Given the description of an element on the screen output the (x, y) to click on. 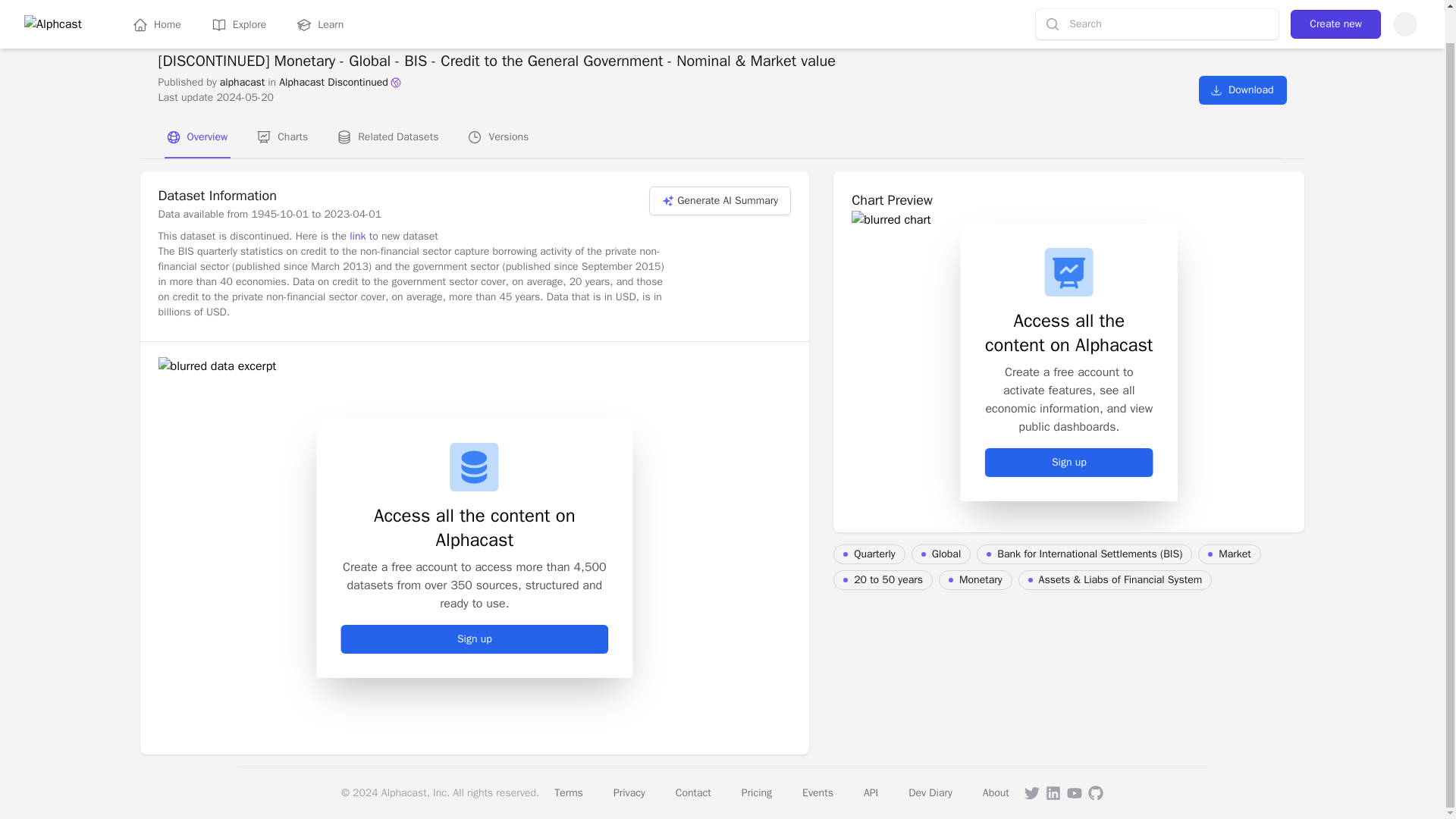
alphacast (241, 82)
LinkedIn (1053, 792)
Youtube (1074, 792)
Explore (238, 7)
Versions (498, 137)
Generate AI Summary (719, 200)
Terms (568, 792)
20 to 50 years (882, 579)
Privacy (628, 792)
Global (941, 554)
Overview (196, 137)
Contact (693, 792)
Charts (282, 137)
Market (1229, 554)
Learn (320, 7)
